Given the description of an element on the screen output the (x, y) to click on. 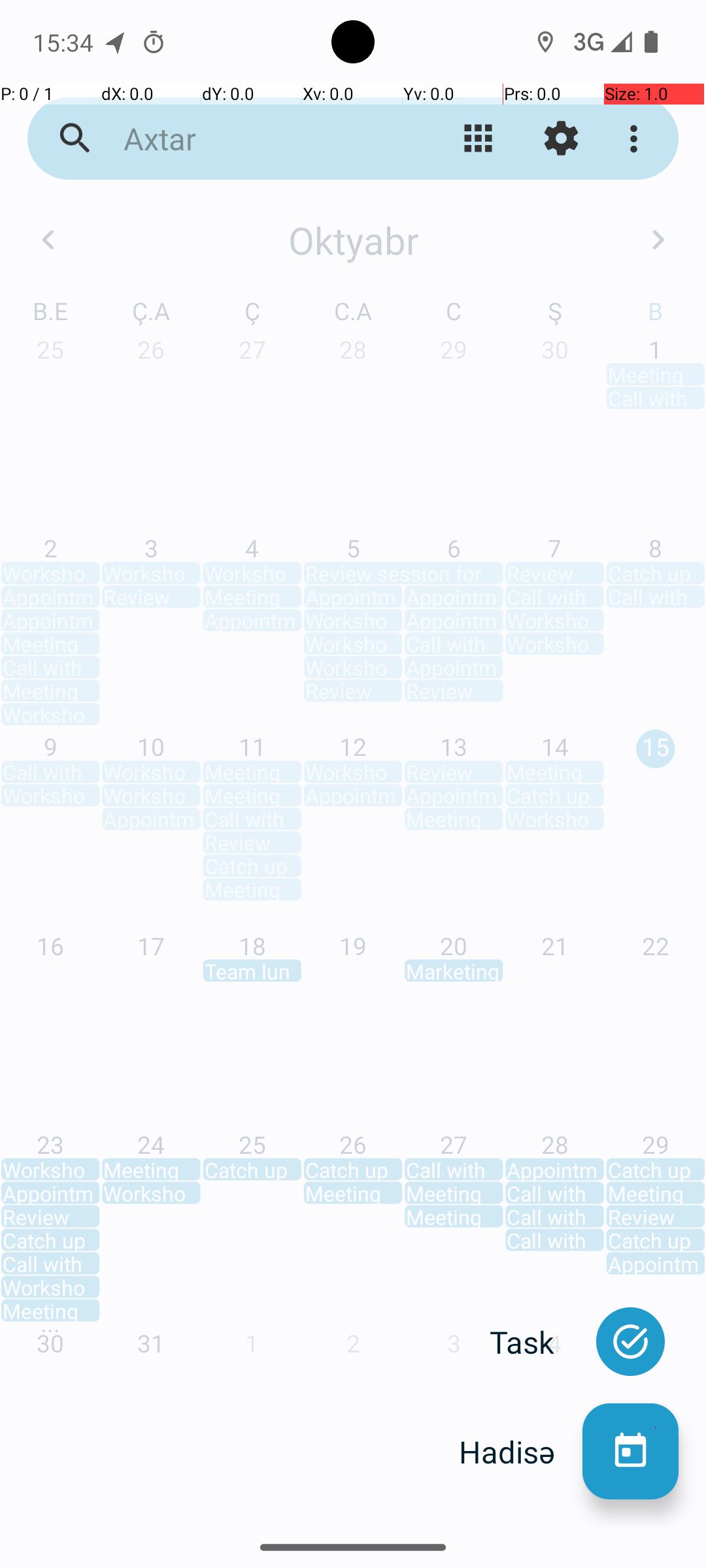
Axtar Element type: android.widget.EditText (252, 138)
Görünüşü dəyiş Element type: android.widget.Button (477, 138)
Parametrlər Element type: android.widget.Button (560, 138)
Digər seçimlər Element type: android.widget.ImageView (636, 138)
Hadisə Element type: android.widget.TextView (520, 1451)
Yeni Hadisə Element type: android.widget.ImageButton (630, 1451)
Oktyabr Element type: android.widget.TextView (352, 239)
